Given the description of an element on the screen output the (x, y) to click on. 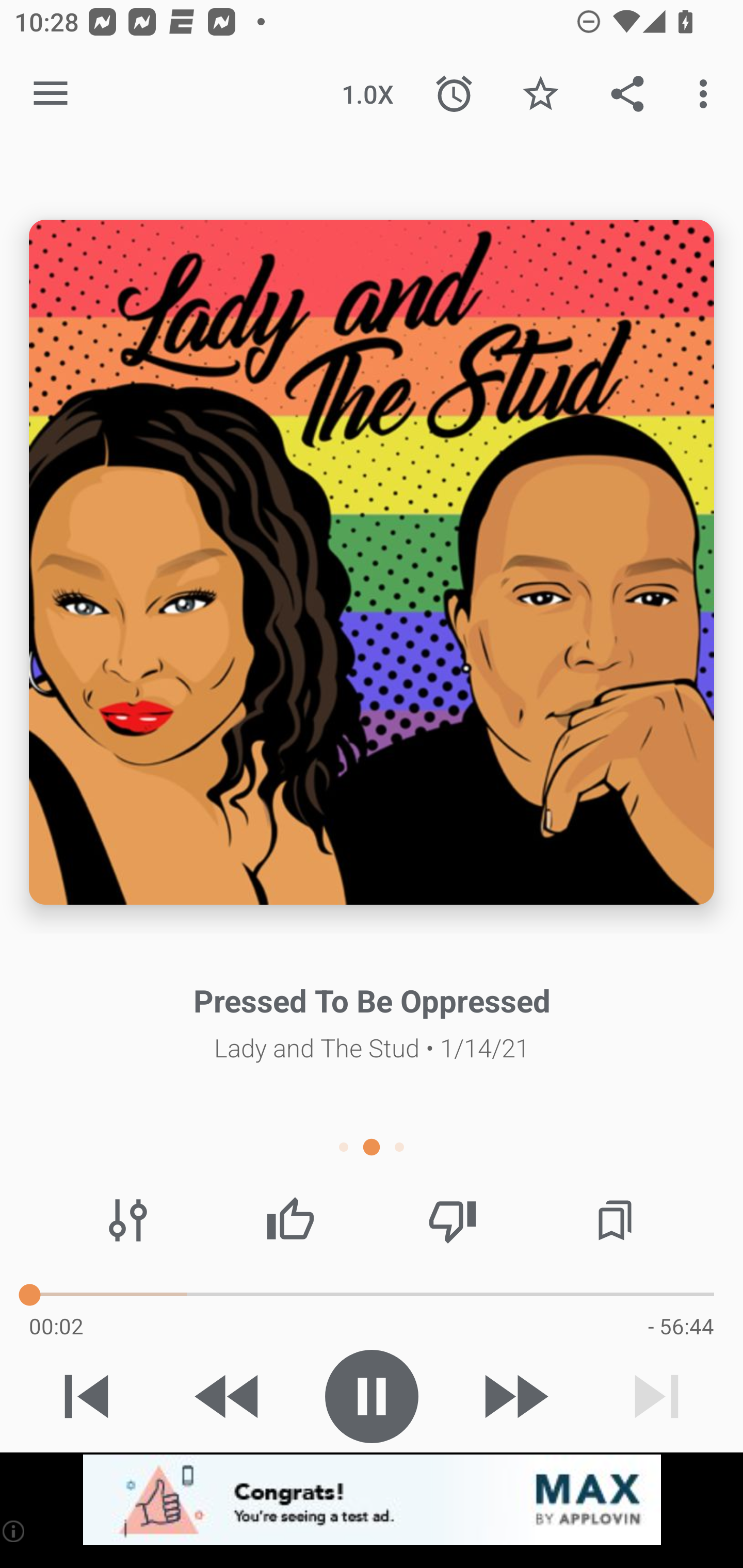
Open navigation sidebar (50, 93)
1.0X (366, 93)
Sleep Timer (453, 93)
Favorite (540, 93)
Share (626, 93)
More options (706, 93)
Episode description (371, 561)
Audio effects (127, 1220)
Thumbs up (290, 1220)
Thumbs down (452, 1220)
Chapters / Bookmarks (614, 1220)
- 56:44 (680, 1325)
Previous track (86, 1395)
Skip 15s backward (228, 1395)
Play / Pause (371, 1395)
Skip 30s forward (513, 1395)
Next track (656, 1395)
app-monetization (371, 1500)
(i) (14, 1531)
